Given the description of an element on the screen output the (x, y) to click on. 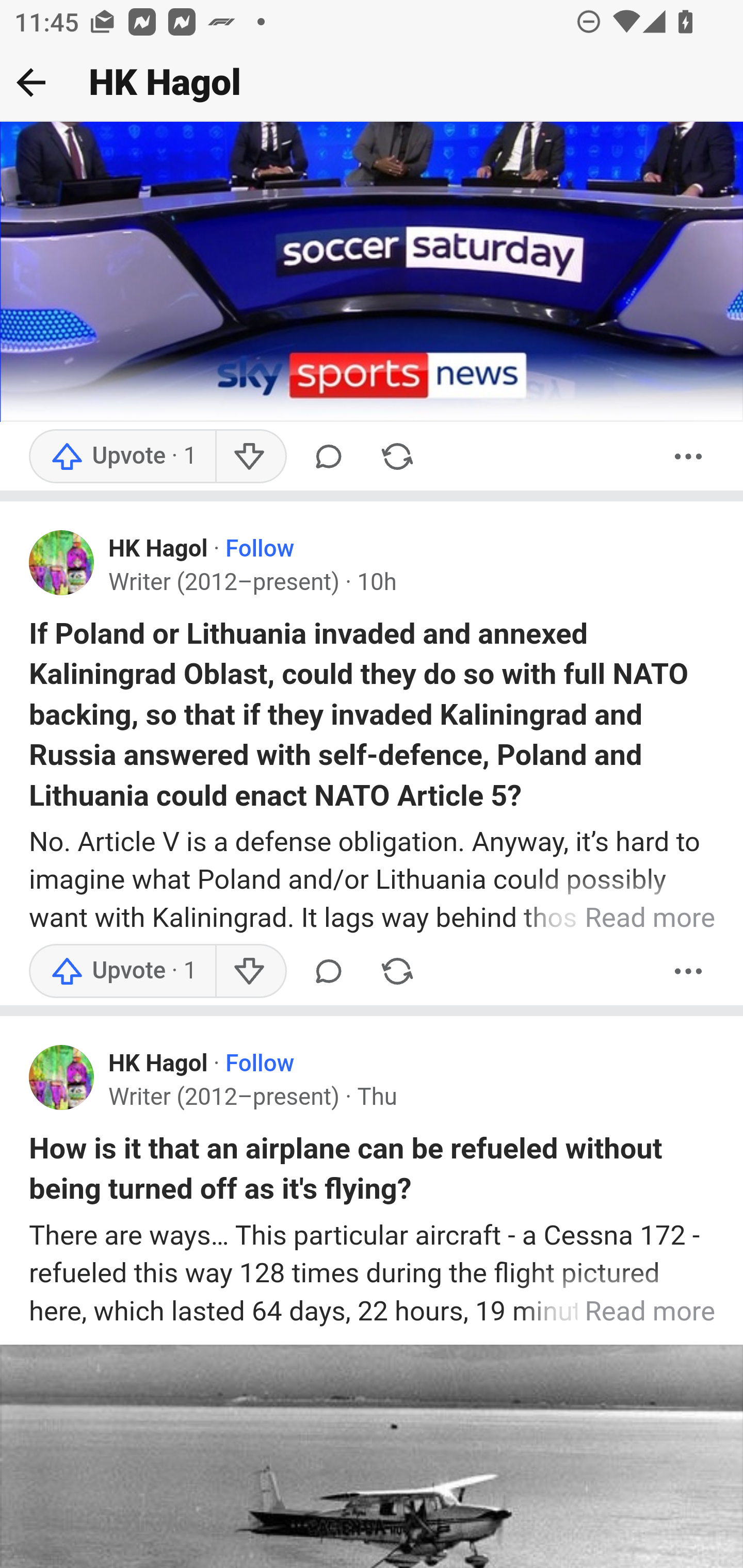
Back HK Hagol (371, 82)
Back (30, 82)
Upvote (122, 457)
Downvote (249, 457)
Comment (328, 457)
Share (397, 457)
More (688, 457)
Profile photo for HK Hagol (61, 563)
HK Hagol (158, 550)
Follow (259, 550)
10h 10 h (376, 583)
Upvote (122, 972)
Downvote (249, 972)
Comment (328, 972)
Share (397, 972)
More (688, 972)
Profile photo for HK Hagol (61, 1079)
HK Hagol (158, 1064)
Follow (259, 1064)
Thu (376, 1098)
